Given the description of an element on the screen output the (x, y) to click on. 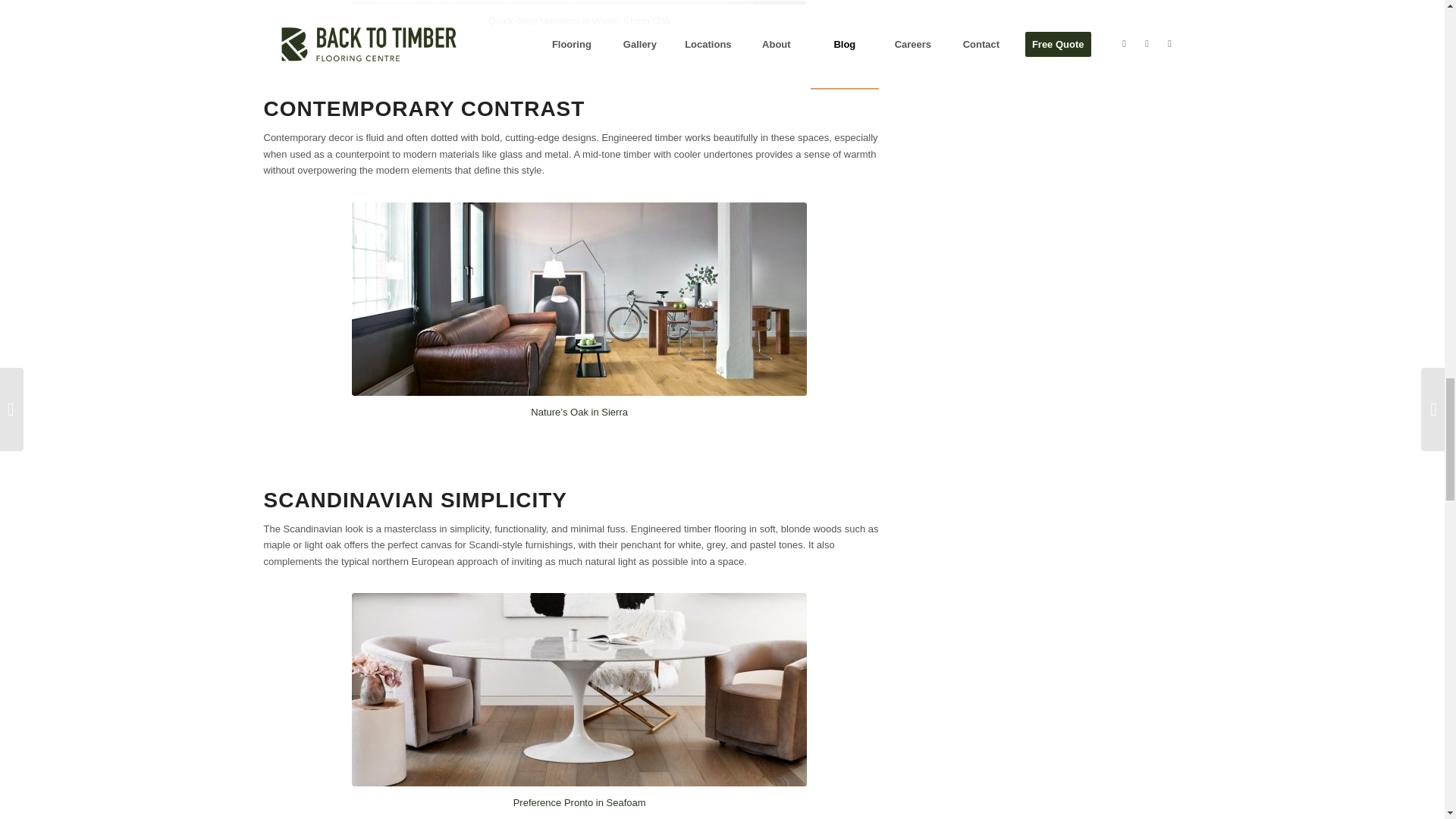
Contemporary Contrast (579, 298)
Scandinavian Simplicity (579, 689)
